Given the description of an element on the screen output the (x, y) to click on. 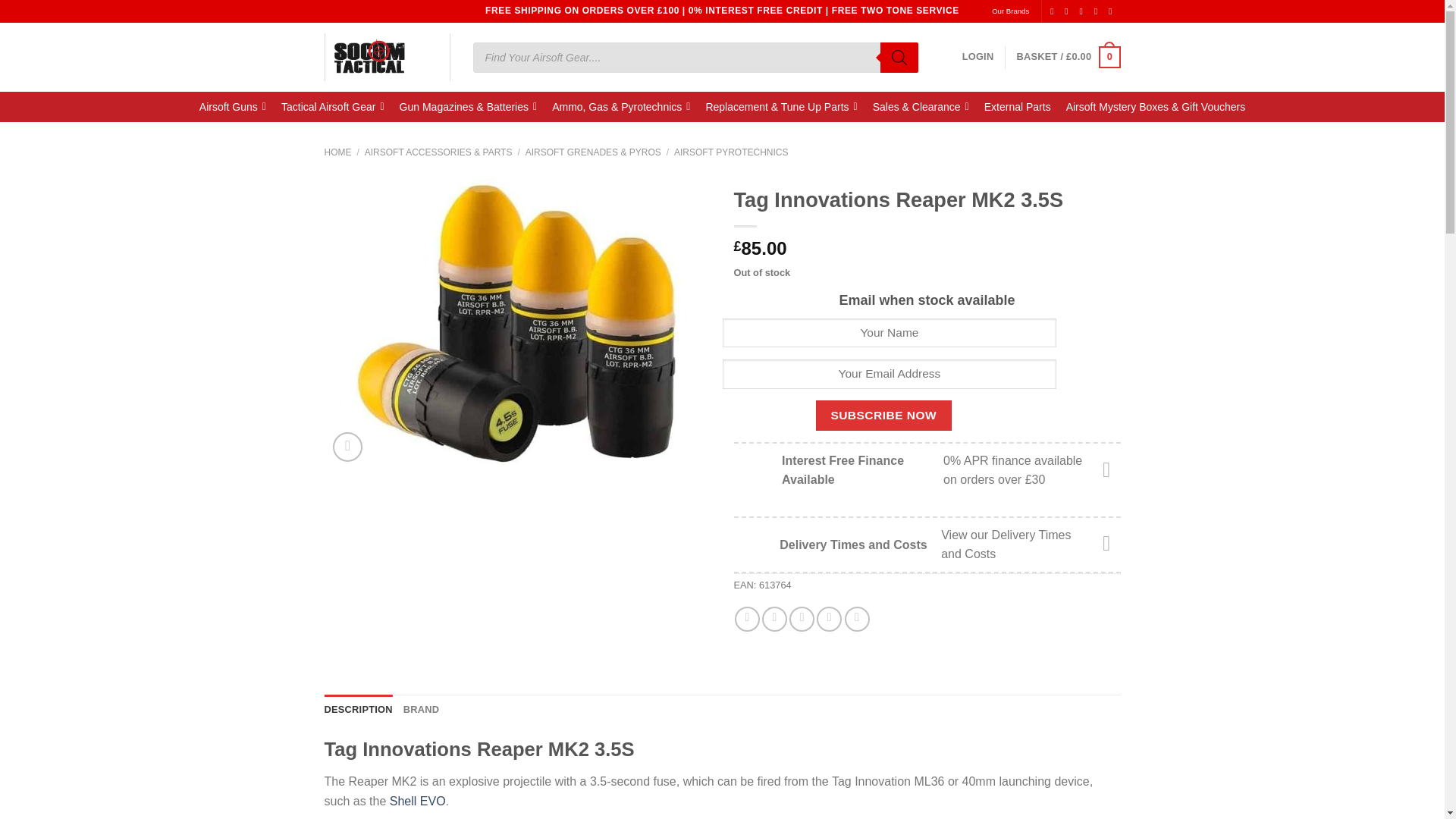
Basket (1067, 57)
Airsoft Guns (232, 106)
Share on Facebook (747, 618)
Our Brands (1010, 10)
Share on Twitter (774, 618)
images (517, 324)
Pin on Pinterest (828, 618)
Share on LinkedIn (856, 618)
Tactical Airsoft Gear (332, 106)
Zoom (347, 446)
LOGIN (978, 56)
Email to a Friend (801, 618)
Subscribe Now (883, 414)
